Given the description of an element on the screen output the (x, y) to click on. 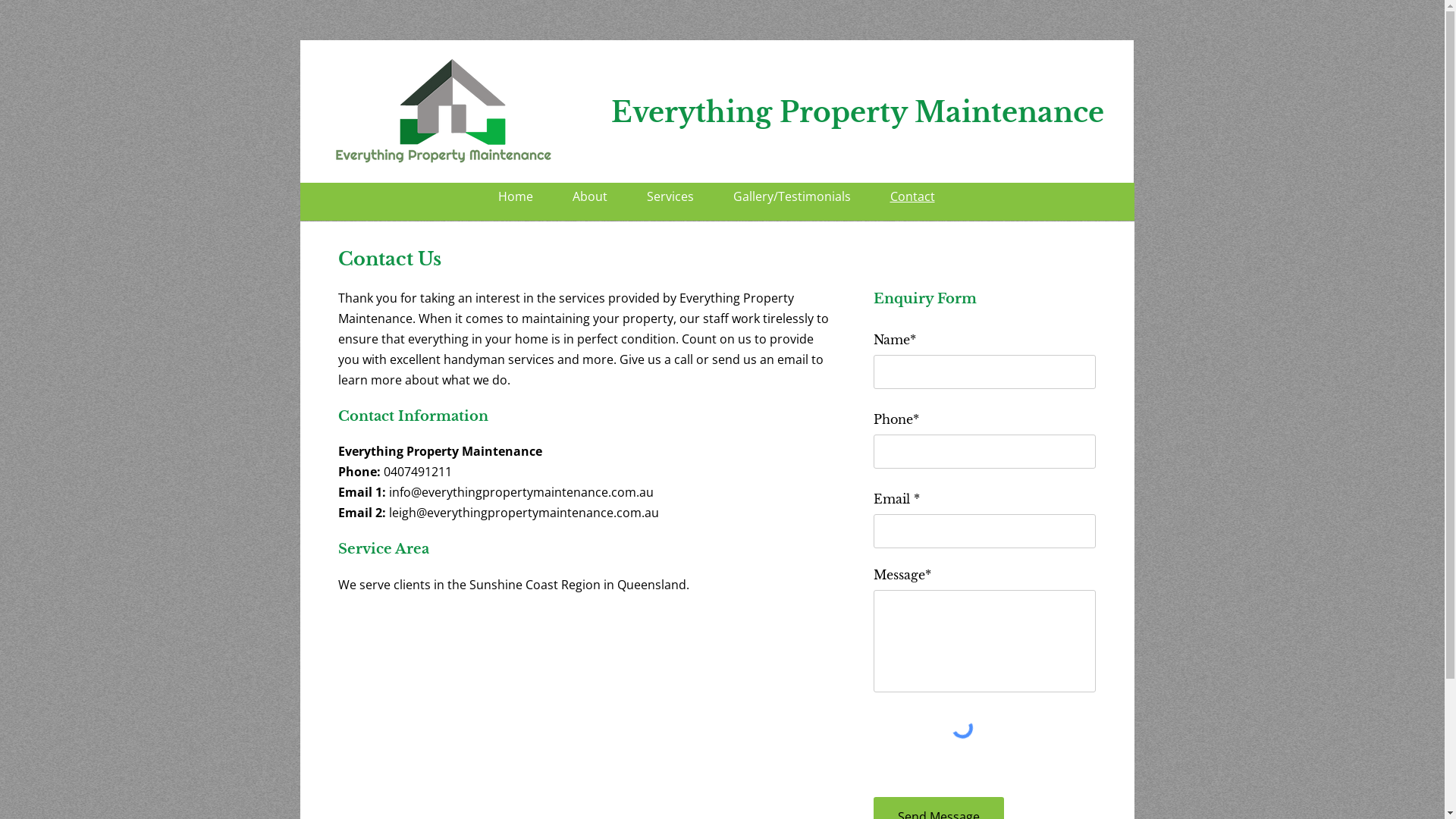
Home Element type: text (514, 196)
Services Element type: text (669, 196)
leigh@everythingpropertymaintenance.com.au Element type: text (523, 512)
Gallery/Testimonials Element type: text (790, 196)
info@everythingpropertymaintenance.com.au Element type: text (520, 491)
Contact Element type: text (912, 196)
About Element type: text (589, 196)
